Given the description of an element on the screen output the (x, y) to click on. 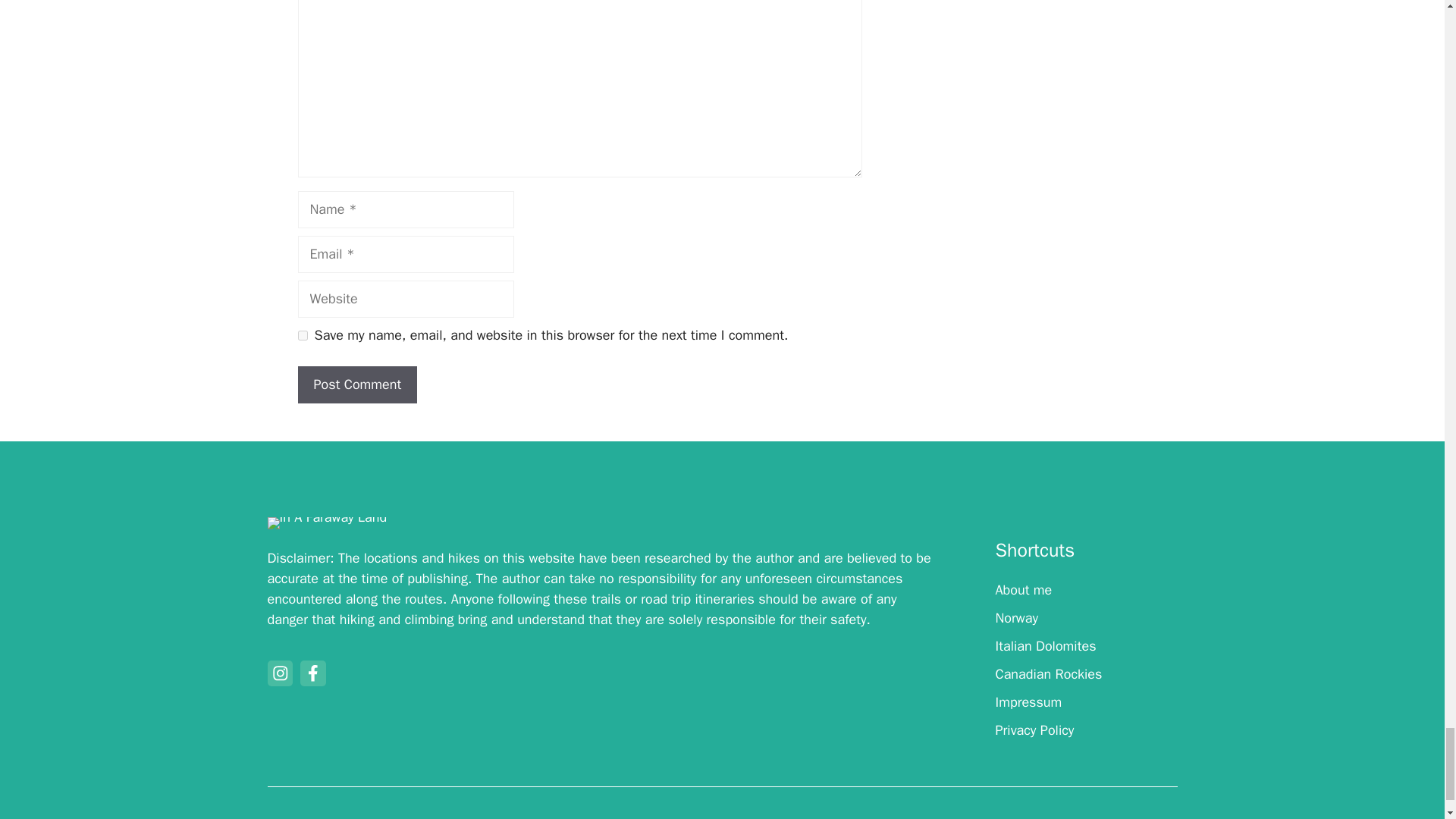
Post Comment (356, 384)
yes (302, 335)
